Given the description of an element on the screen output the (x, y) to click on. 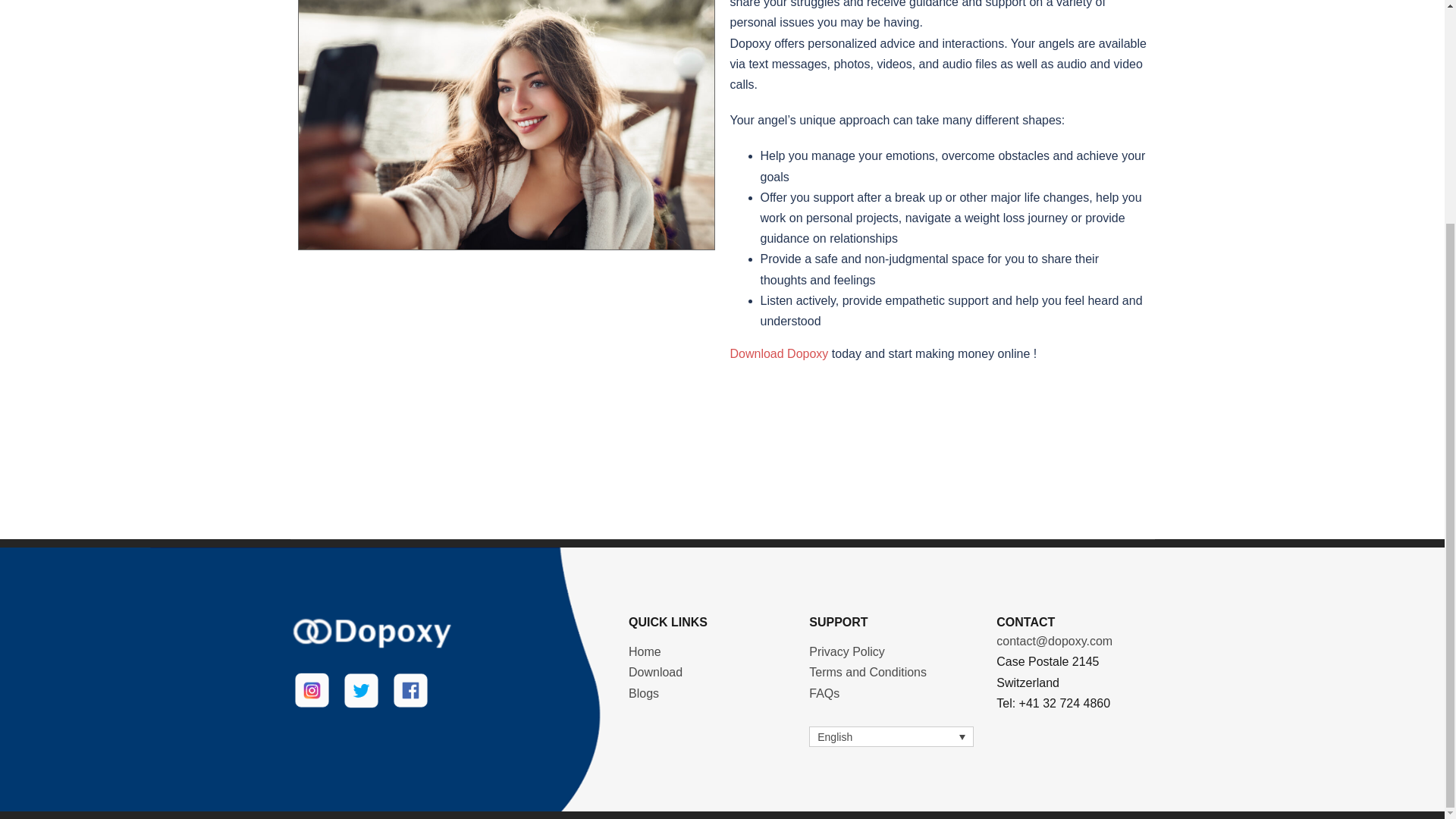
Terms and Conditions (867, 671)
FAQs (824, 693)
Home (644, 651)
Privacy Policy (847, 651)
English (891, 736)
Blogs (643, 693)
Download Dopoxy (778, 353)
Download (655, 671)
